Given the description of an element on the screen output the (x, y) to click on. 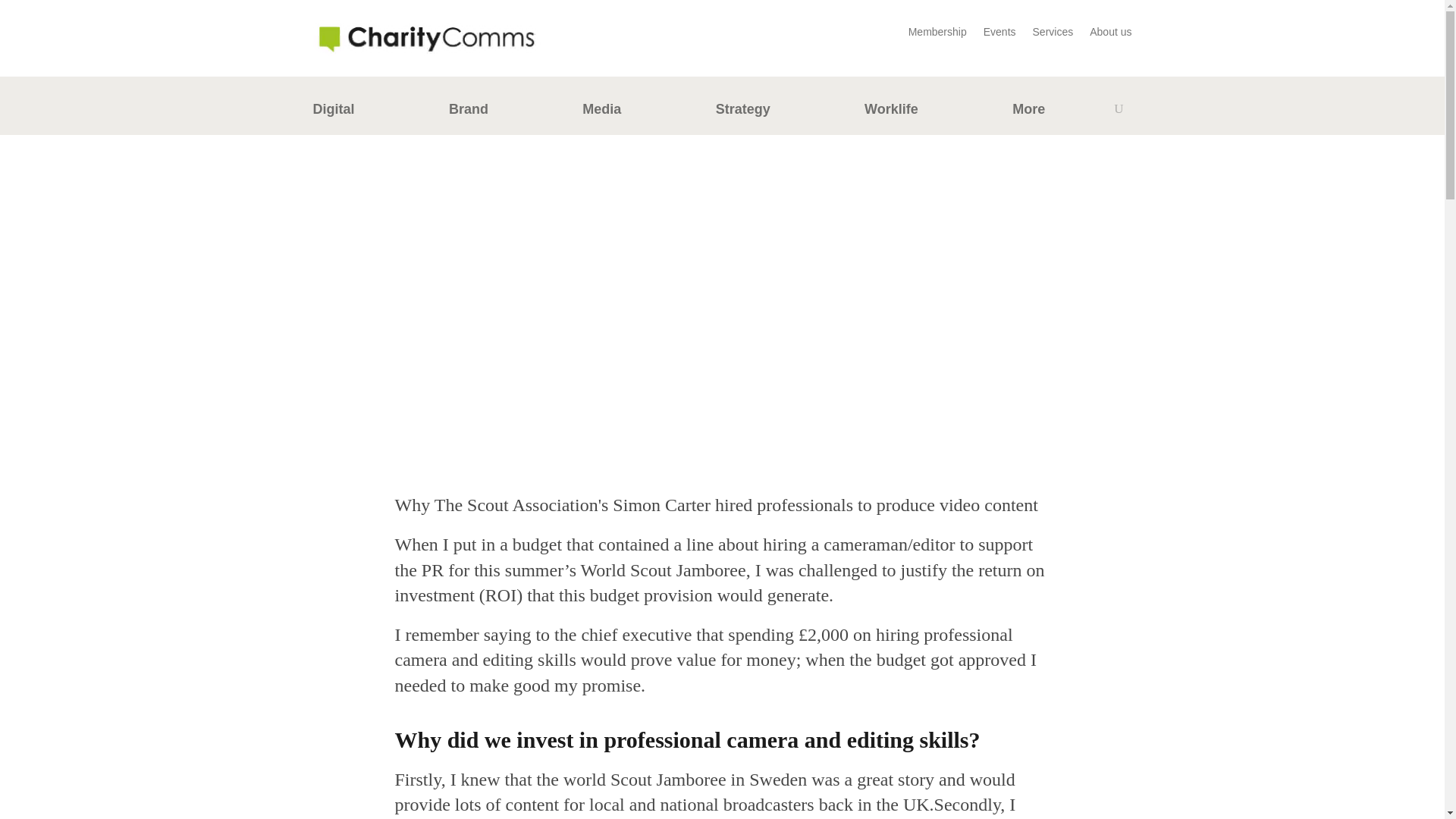
Brand (467, 112)
Strategy (743, 112)
Worklife (891, 112)
Membership (937, 34)
More (1028, 112)
Events (1000, 34)
Digital (333, 112)
About us (1110, 34)
Media (601, 112)
Services (1053, 34)
